Given the description of an element on the screen output the (x, y) to click on. 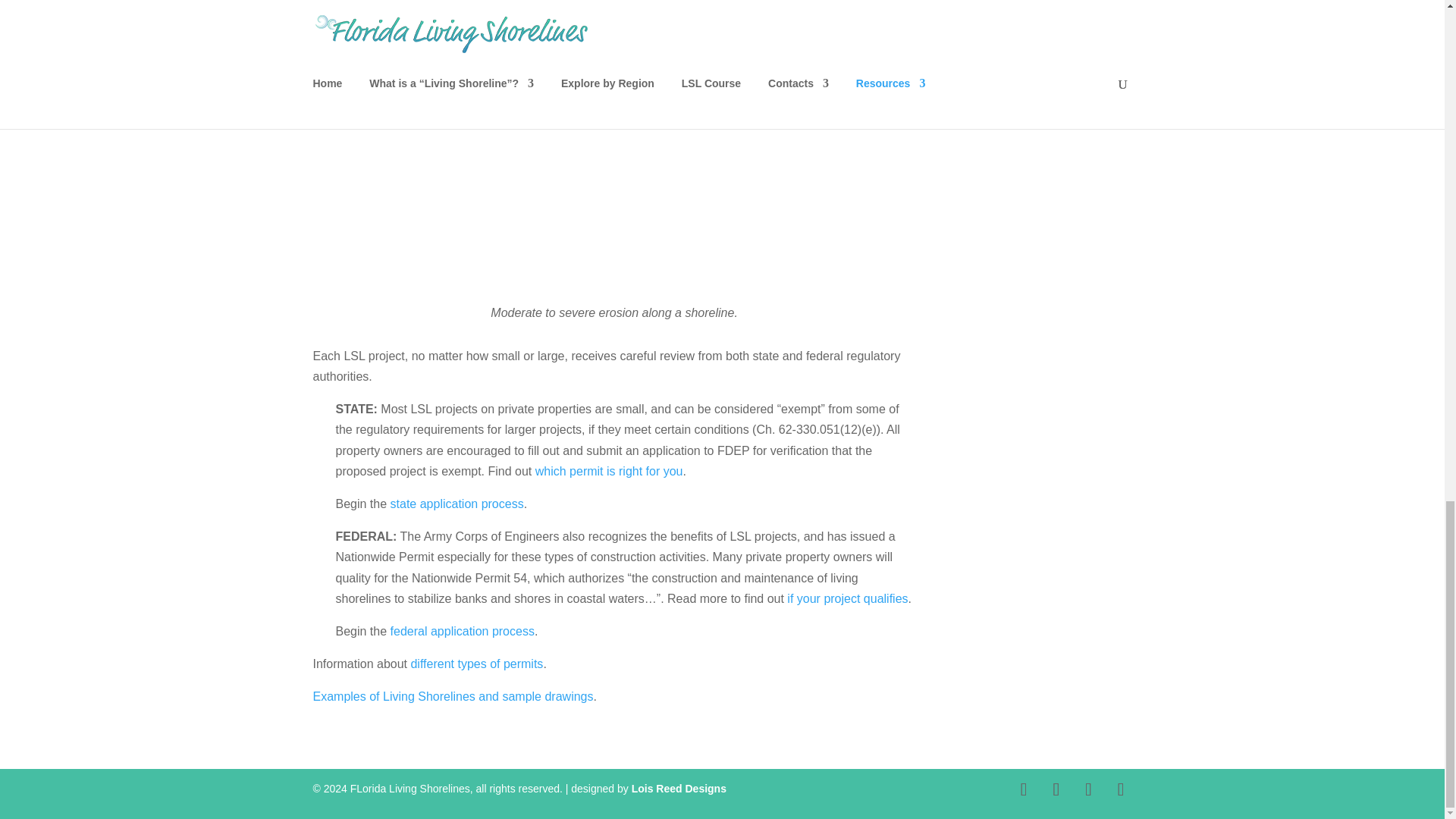
if your project qualifies (847, 598)
different types of permits (476, 663)
which permit is right for you (608, 471)
Lois Reed Designs (678, 788)
federal application process (462, 631)
state application process (457, 503)
